Given the description of an element on the screen output the (x, y) to click on. 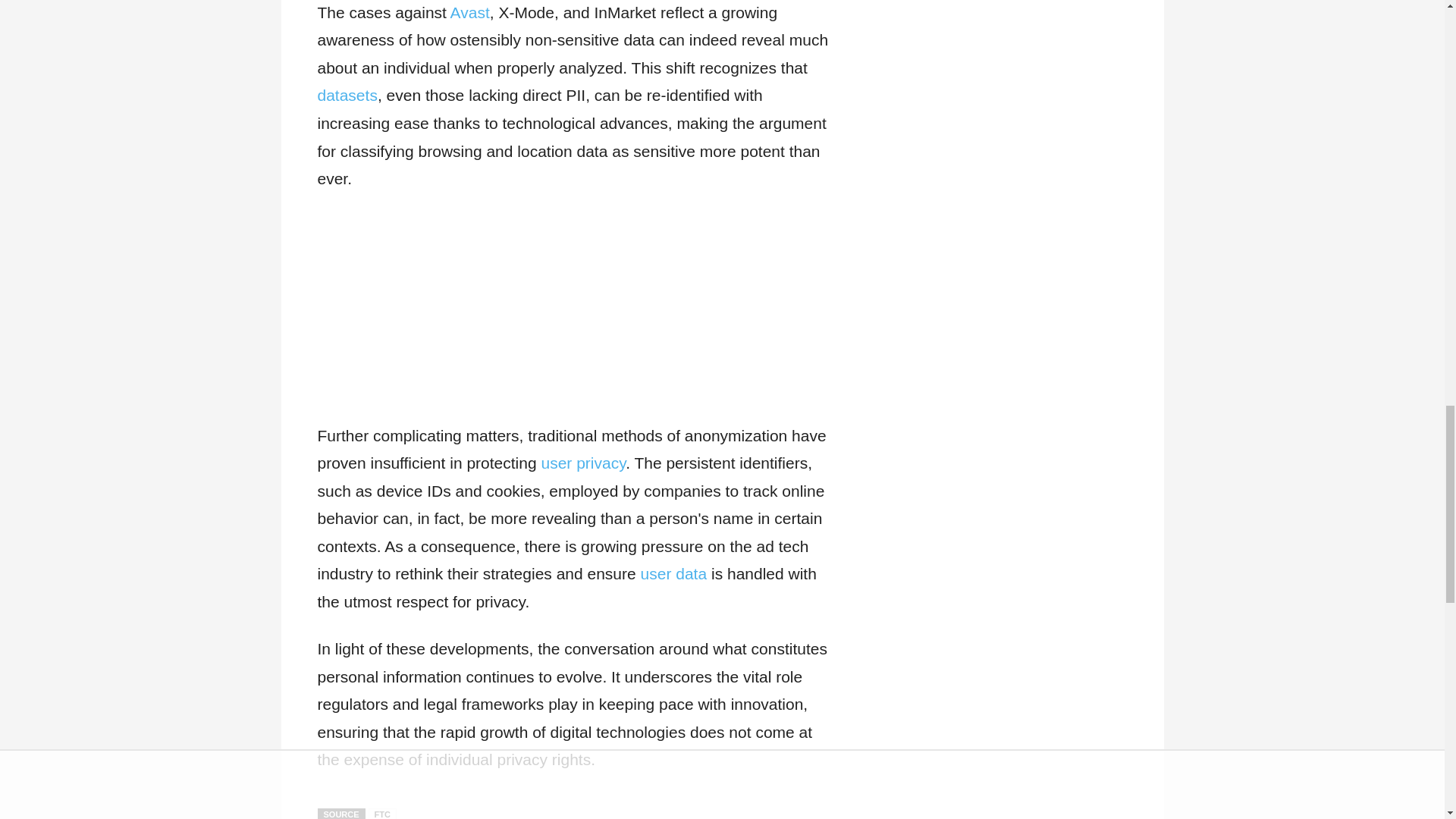
Posts tagged with User Privacy (583, 462)
Posts tagged with Avast (469, 12)
Posts tagged with Datasets (347, 95)
Posts tagged with User Data (673, 573)
